Given the description of an element on the screen output the (x, y) to click on. 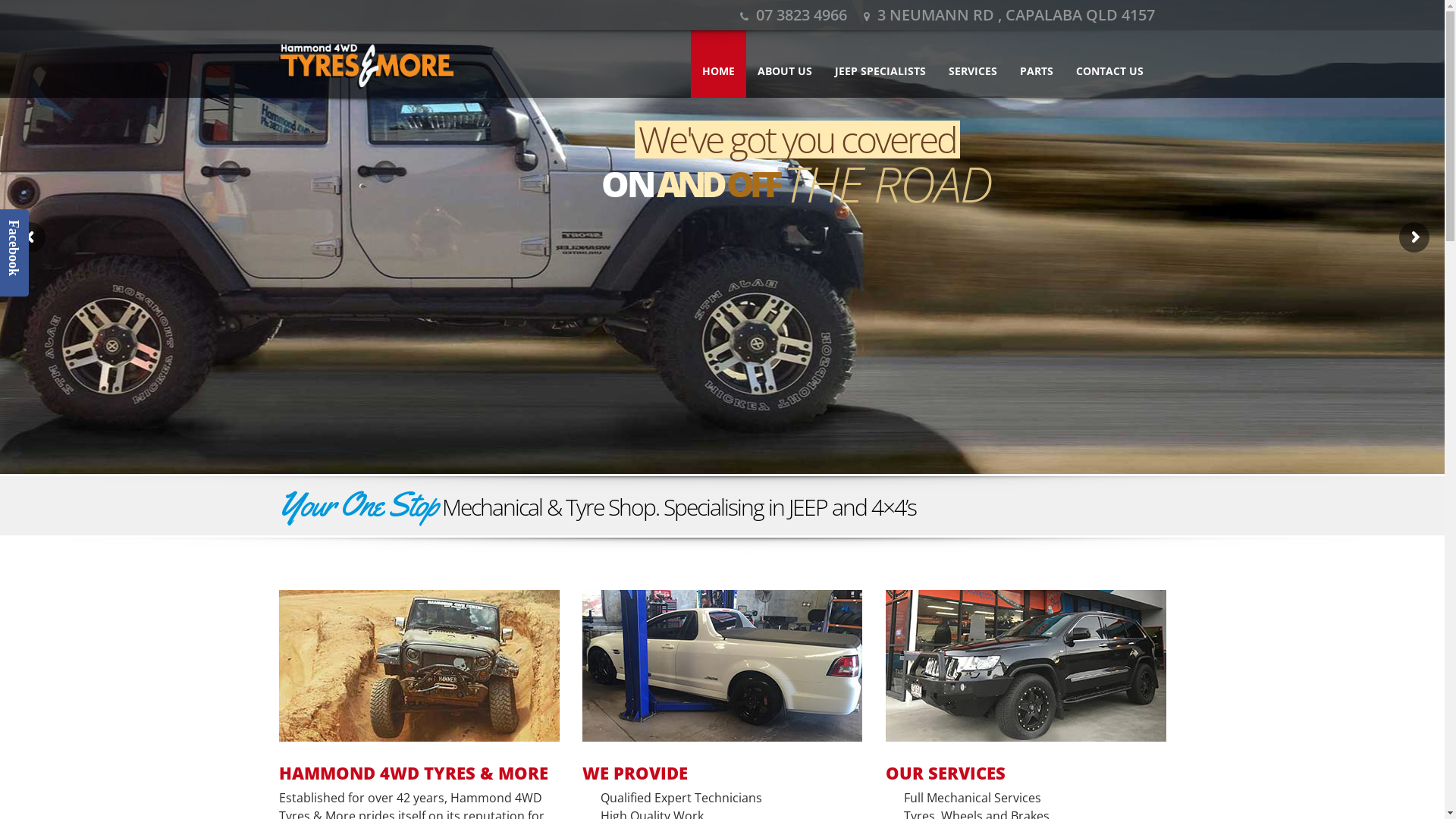
SERVICES Element type: text (972, 63)
PARTS Element type: text (1036, 63)
07 3823 4966 Element type: text (793, 14)
ABOUT US Element type: text (784, 63)
HOME Element type: text (717, 63)
JEEP SPECIALISTS Element type: text (880, 63)
CONTACT US Element type: text (1109, 63)
3 NEUMANN RD , CAPALABA QLD 4157 Element type: text (1008, 14)
